Given the description of an element on the screen output the (x, y) to click on. 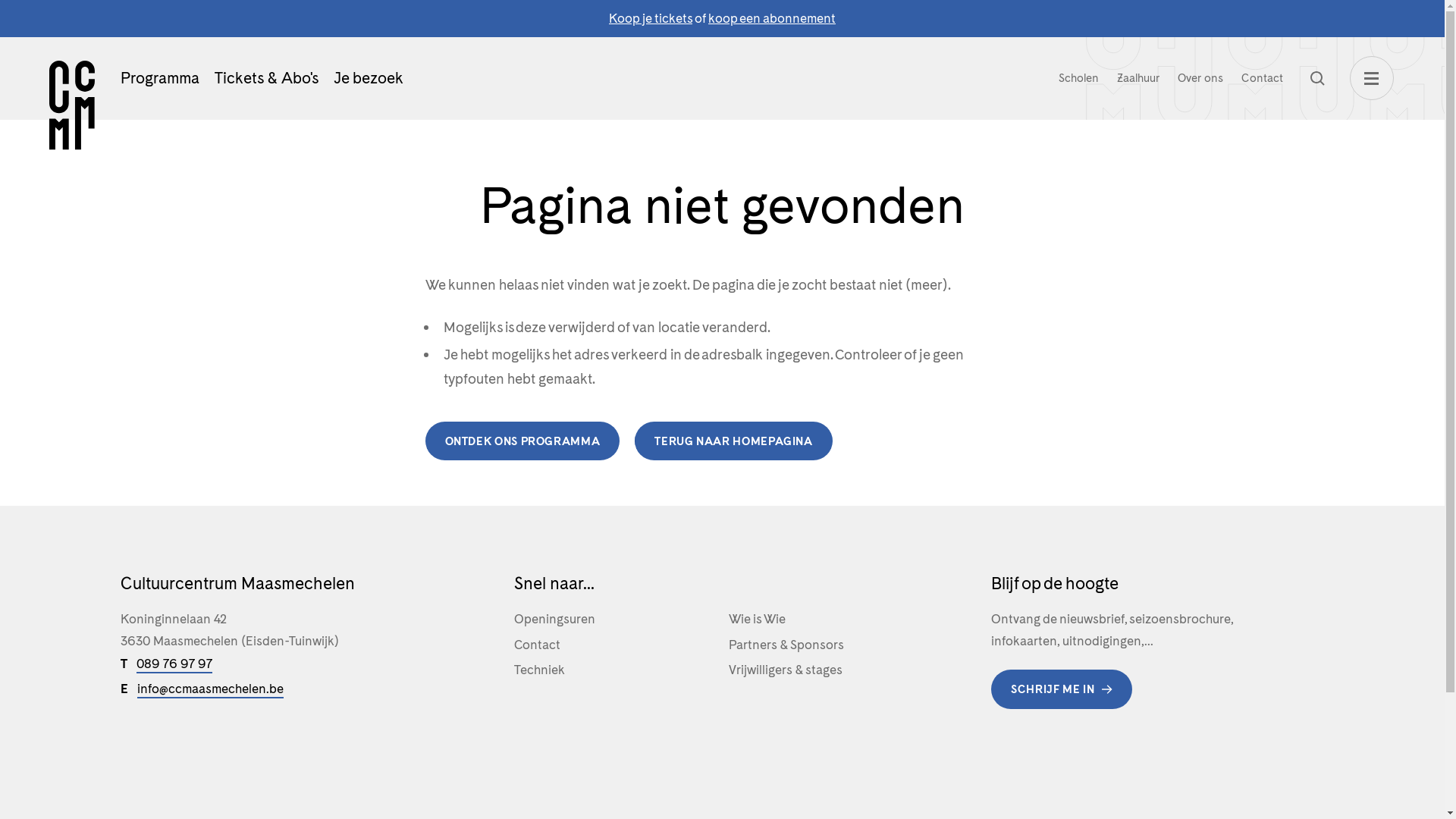
koop een abonnement Element type: text (771, 17)
089 76 97 97 Element type: text (174, 663)
facebook Element type: hover (126, 748)
TERUG NAAR HOMEPAGINA Element type: text (732, 440)
Vrijwilligers & stages Element type: text (829, 669)
Scholen Element type: text (1078, 77)
Contact Element type: text (614, 644)
info@ccmaasmechelen.be Element type: text (209, 688)
Wie is Wie Element type: text (829, 619)
ONTDEK ONS PROGRAMMA Element type: text (521, 440)
instagram Element type: hover (160, 748)
Programma Element type: text (158, 77)
Koop je tickets Element type: text (650, 17)
Over ons Element type: text (1199, 77)
Zaalhuur Element type: text (1137, 77)
Partners & Sponsors Element type: text (829, 644)
Je bezoek Element type: text (368, 77)
Tickets & Abo's Element type: text (265, 77)
Techniek Element type: text (614, 669)
Openingsuren Element type: text (614, 619)
SCHRIJF ME IN Element type: text (1061, 688)
Contact Element type: text (1261, 77)
